Given the description of an element on the screen output the (x, y) to click on. 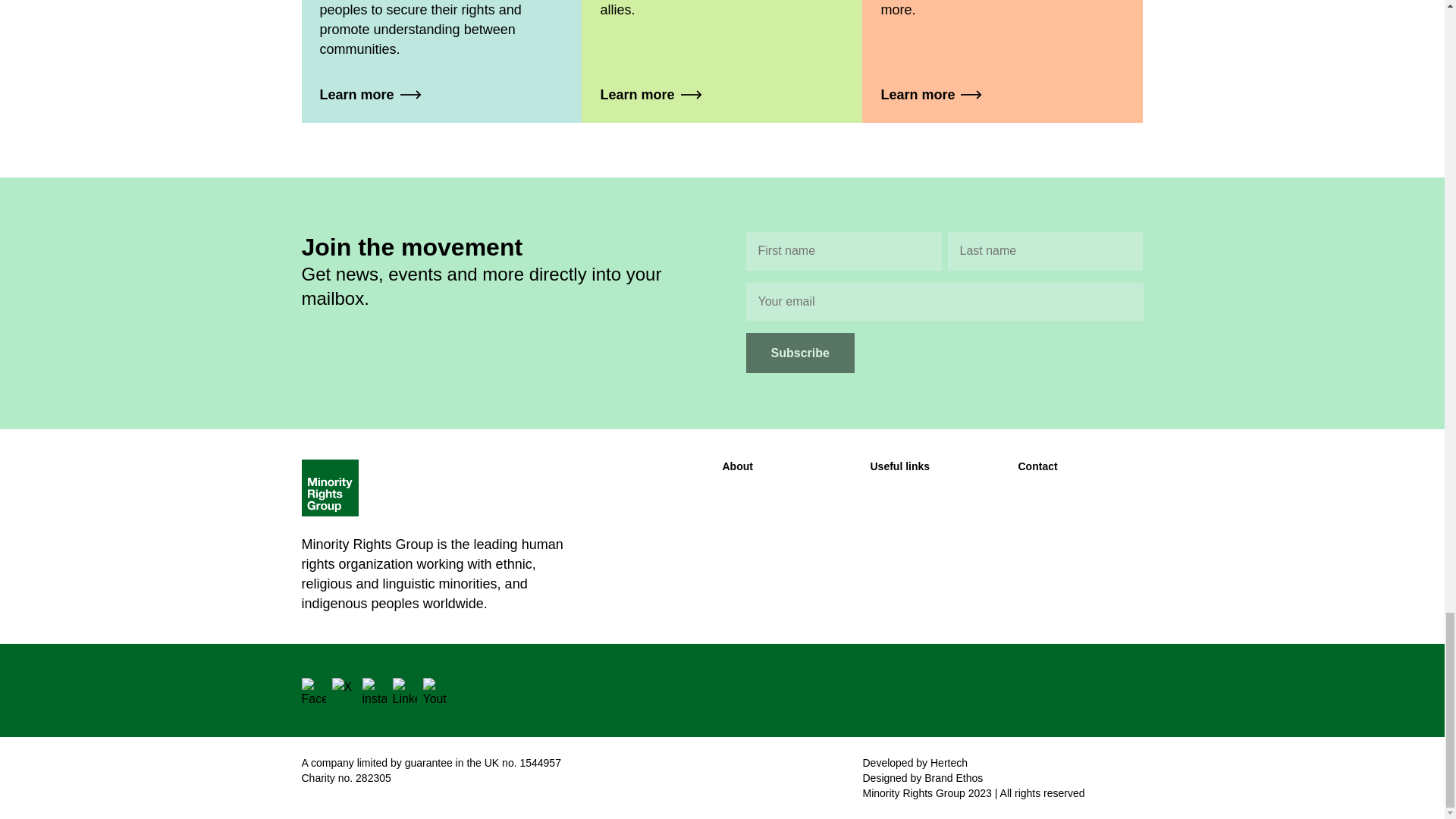
Follow the MRG on Facebook (313, 690)
Follow the MRG on X (343, 690)
Follow the MRG on Linkedin (404, 690)
Follow the MRG on instagram (374, 690)
